Given the description of an element on the screen output the (x, y) to click on. 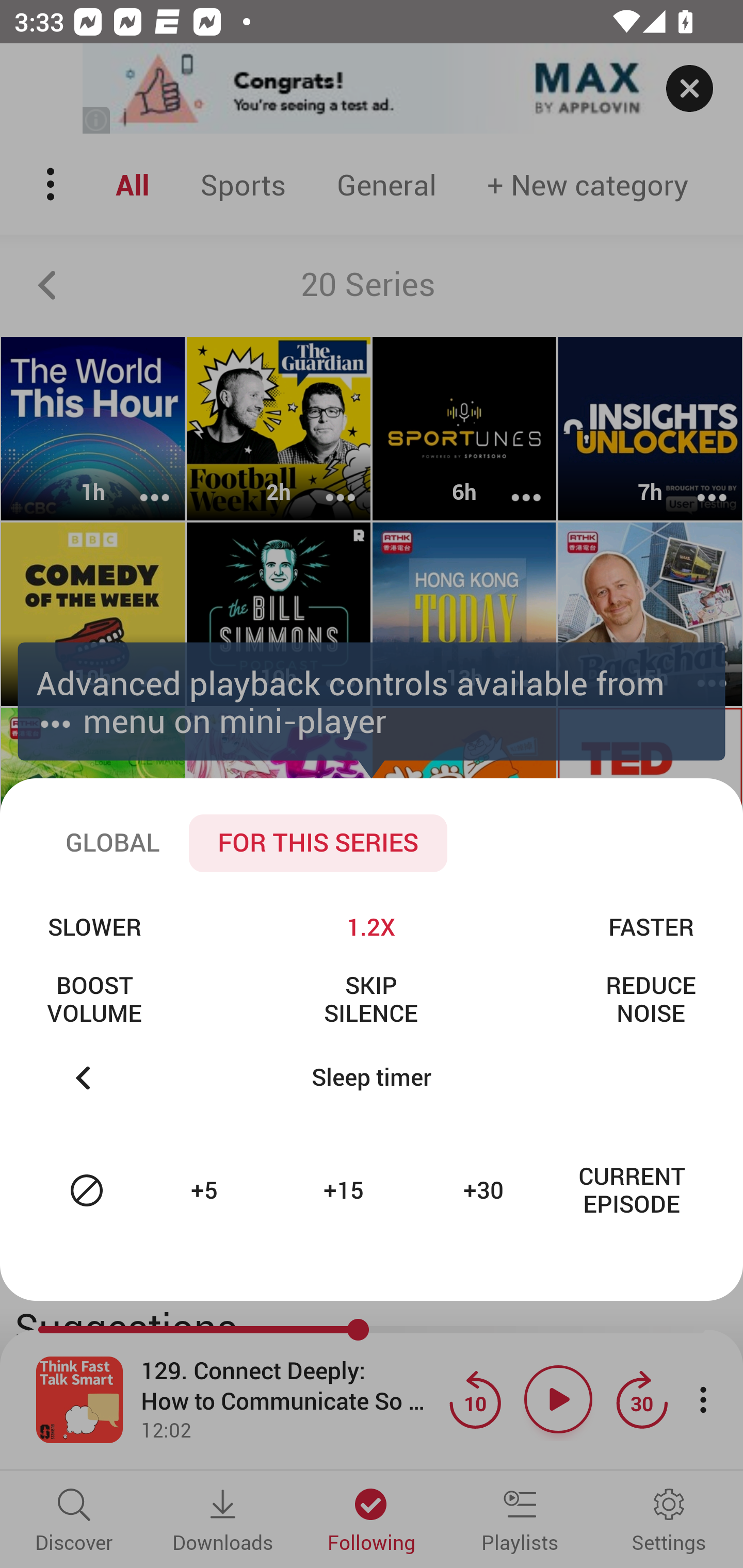
GLOBAL (112, 842)
FOR THIS SERIES (317, 842)
SLOWER (94, 926)
1.2X (370, 926)
FASTER (650, 926)
BOOST
VOLUME (94, 998)
SKIP
SILENCE (370, 998)
REDUCE
NOISE (650, 998)
Reset (86, 1190)
+5  (206, 1190)
+15  (346, 1190)
+30  (486, 1190)
CURRENT
EPISODE (631, 1190)
